Given the description of an element on the screen output the (x, y) to click on. 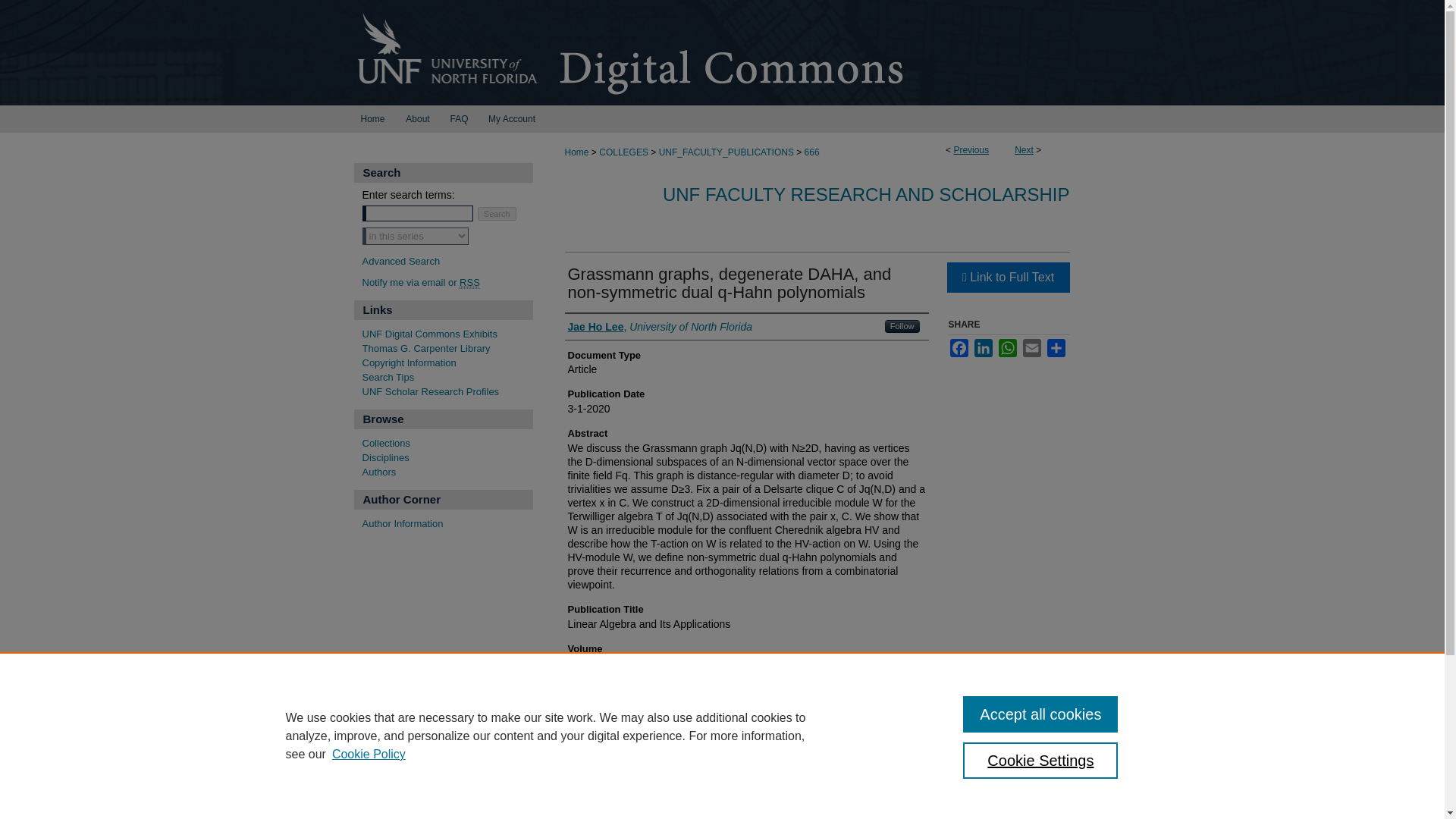
Search (496, 213)
Share (1055, 348)
Email or RSS Notifications (447, 282)
Search (496, 213)
Home (576, 152)
Follow Jae Ho Lee (902, 326)
UNF Digital Commons Exhibits (447, 334)
FAQ (458, 118)
Search Tips (447, 377)
UNF Scholar Research Profiles (447, 391)
Facebook (958, 348)
UNF FACULTY RESEARCH AND SCHOLARSHIP (866, 194)
COLLEGES (622, 152)
Jae Ho Lee, University of North Florida (659, 326)
My Account (512, 118)
